Given the description of an element on the screen output the (x, y) to click on. 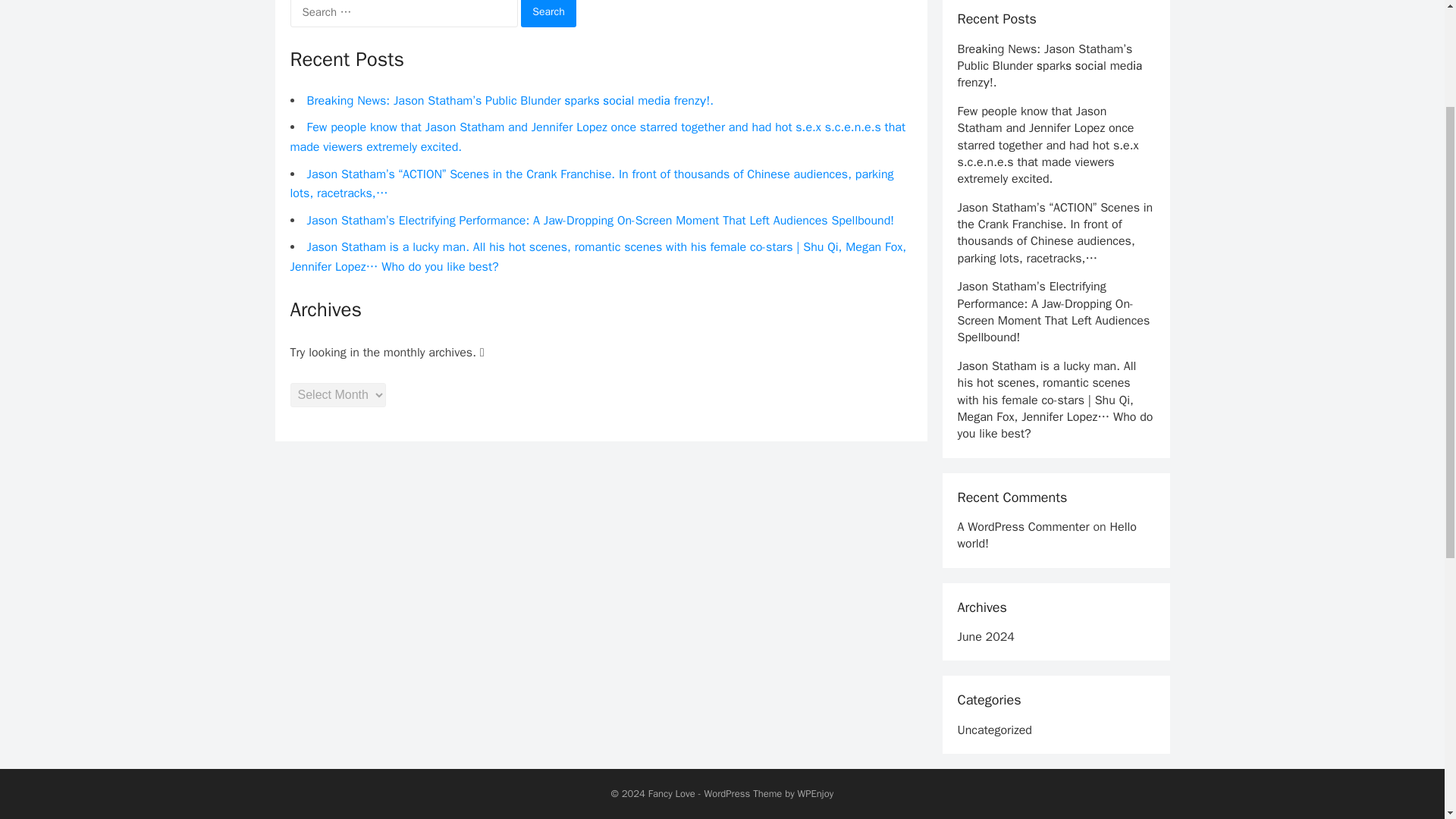
WPEnjoy (815, 793)
Search (548, 13)
Search (548, 13)
Fancy Love (671, 793)
Hello world! (1045, 535)
Uncategorized (993, 729)
WordPress Theme (742, 793)
A WordPress Commenter (1022, 526)
